Given the description of an element on the screen output the (x, y) to click on. 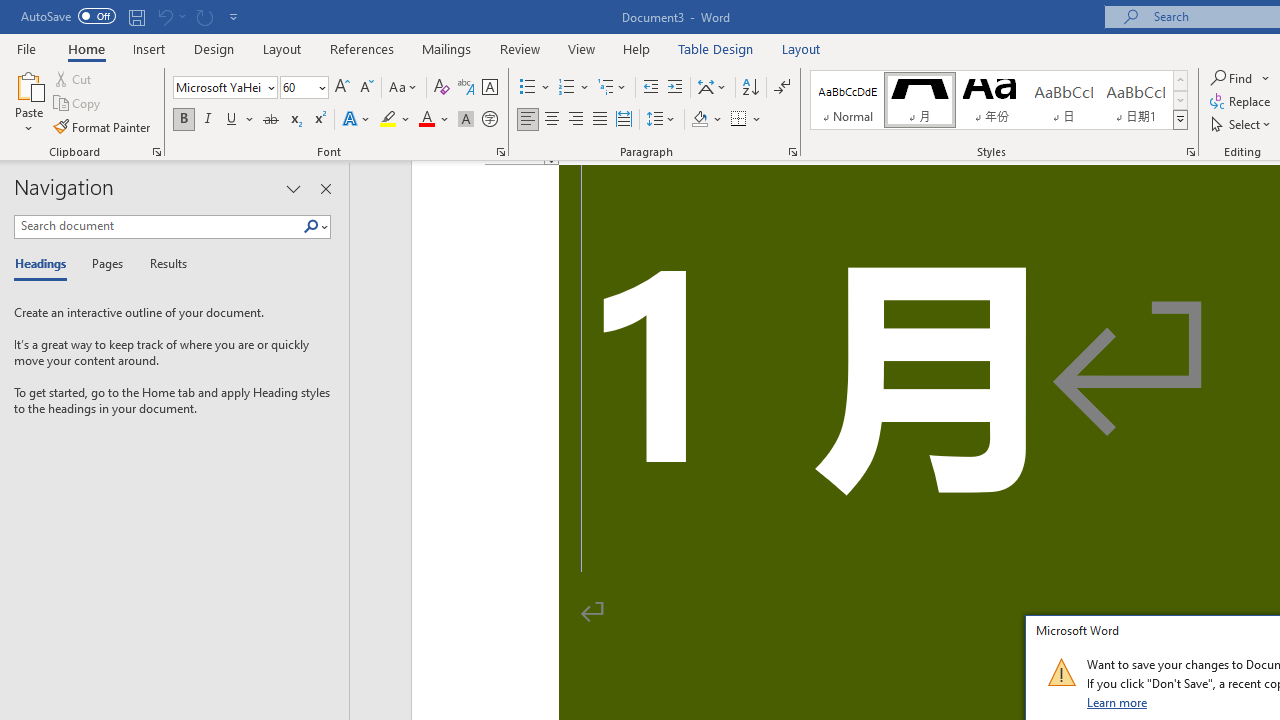
Font... (500, 151)
Select (1242, 124)
Home (86, 48)
Task Pane Options (293, 188)
Find (1240, 78)
Borders (746, 119)
Show/Hide Editing Marks (781, 87)
Design (214, 48)
Can't Undo (164, 15)
File Tab (26, 48)
Font (224, 87)
Table Design (715, 48)
Bold (183, 119)
Replace... (1242, 101)
